Given the description of an element on the screen output the (x, y) to click on. 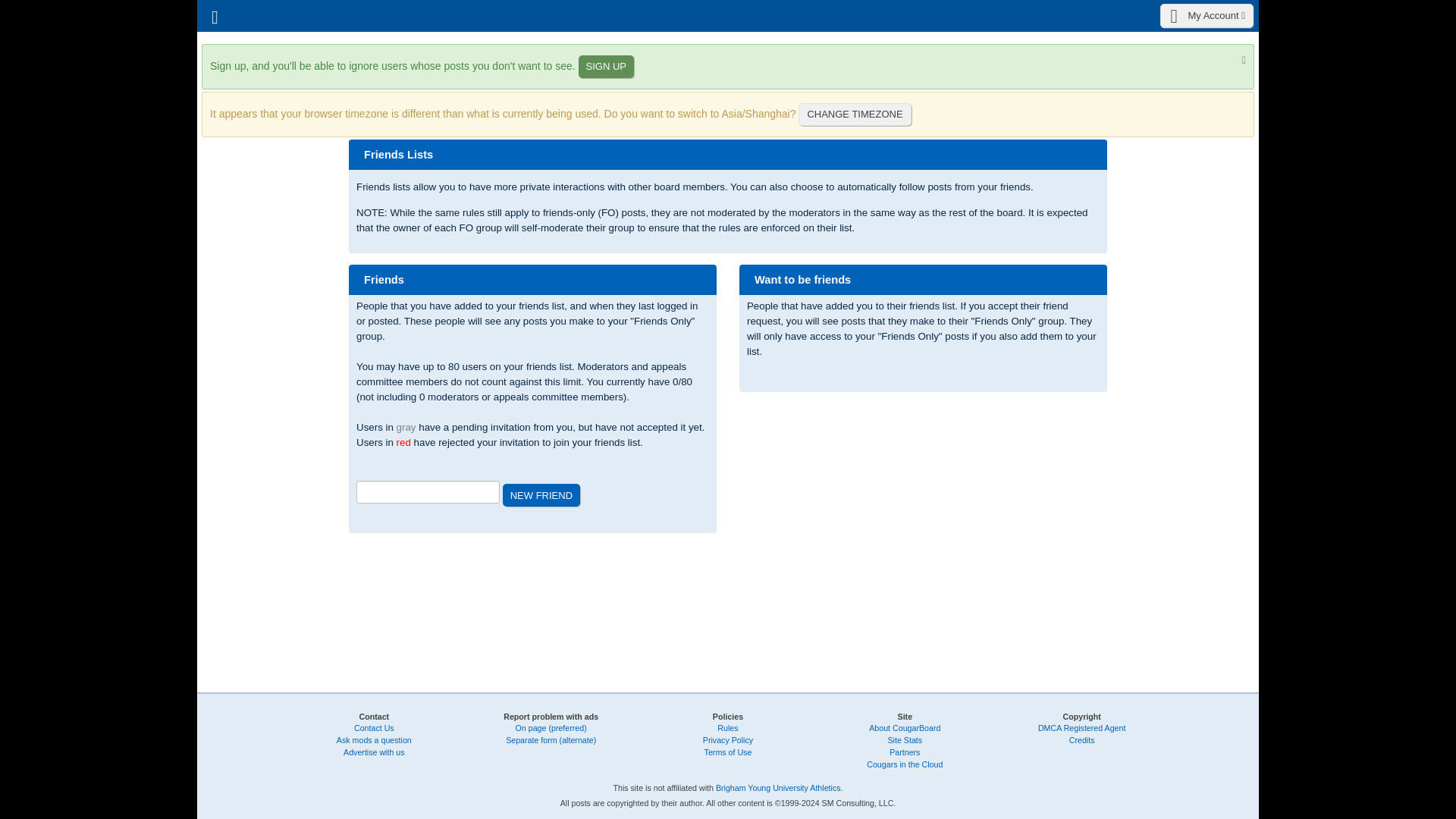
CHANGE TIMEZONE (854, 114)
Terms of Use (727, 751)
Privacy Policy (727, 739)
SIGN UP (605, 66)
Partners (904, 751)
Ask mods a question (374, 739)
My Account (1206, 15)
NEW FRIEND (540, 495)
Rules (727, 727)
Advertise with us (374, 751)
Site Stats (904, 739)
Contact Us (374, 727)
About CougarBoard (904, 727)
